Given the description of an element on the screen output the (x, y) to click on. 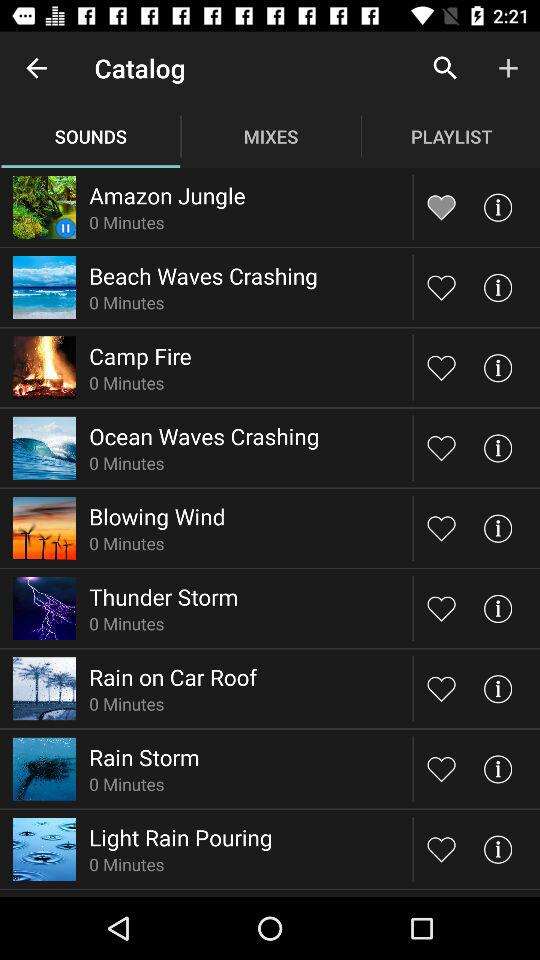
more information on this sound (498, 688)
